Given the description of an element on the screen output the (x, y) to click on. 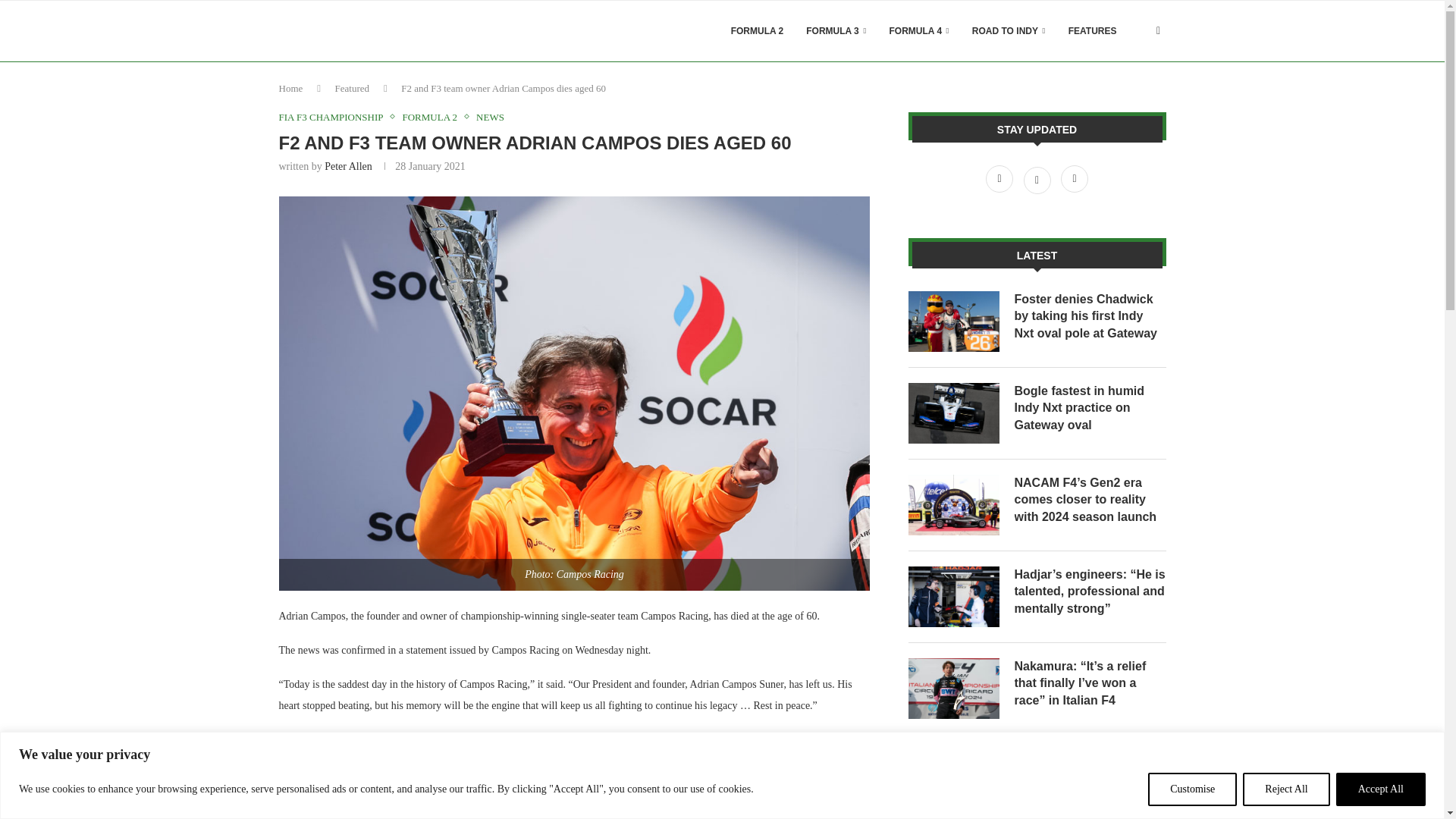
NEWS (489, 117)
Bogle fastest in humid Indy Nxt practice on Gateway oval (953, 413)
FORMULA 2 (432, 117)
Featured (351, 88)
FIA F3 CHAMPIONSHIP (335, 117)
Bogle fastest in humid Indy Nxt practice on Gateway oval (1090, 408)
FORMULA 3 (836, 30)
Accept All (1380, 788)
